Given the description of an element on the screen output the (x, y) to click on. 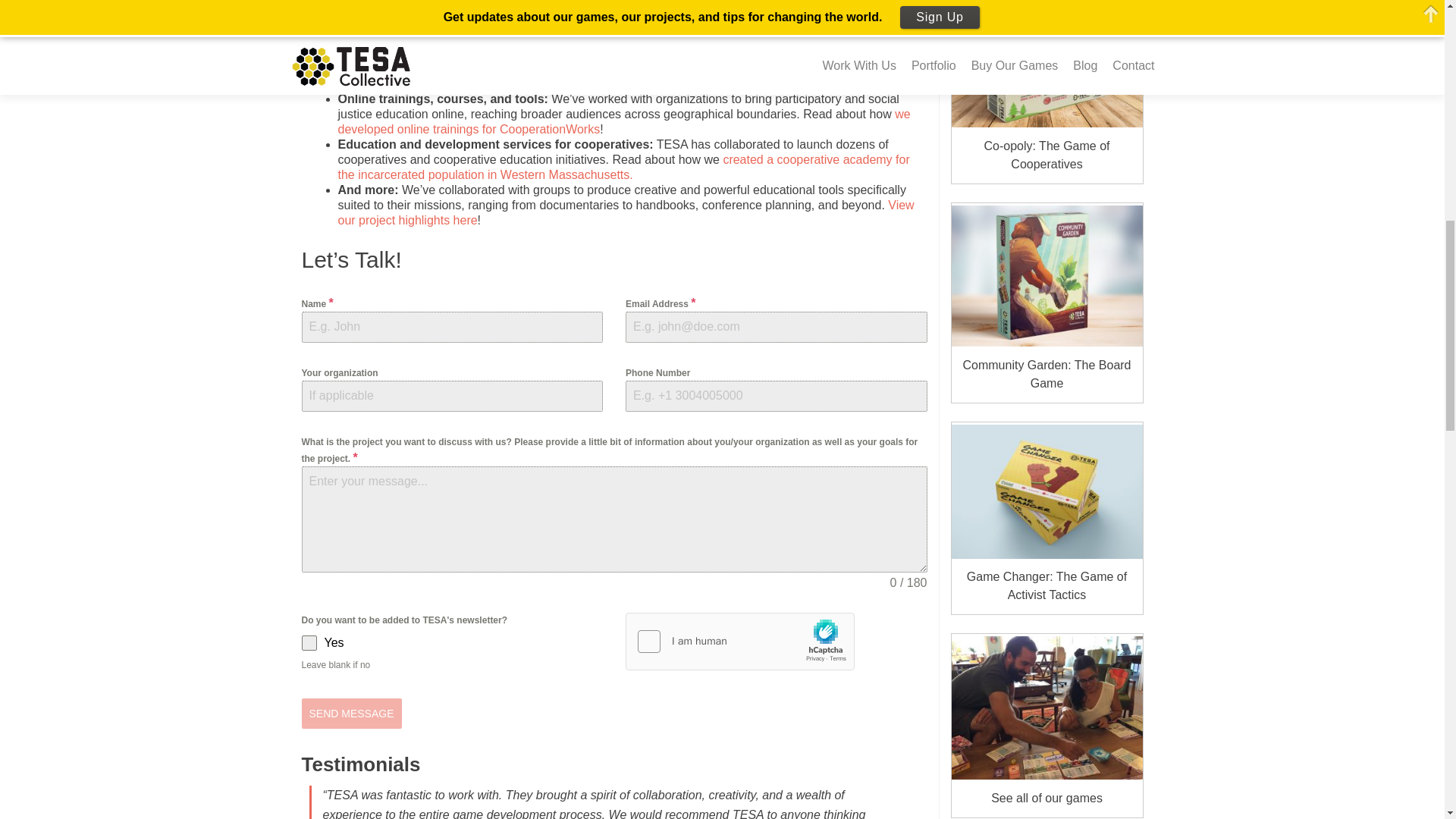
Yes (452, 642)
Widget containing checkbox for hCaptcha security challenge (741, 641)
we developed online trainings for CooperationWorks (624, 121)
SEND MESSAGE (351, 713)
developed workshops for the International Rescue Committee (630, 76)
SCO Family of Services (439, 38)
View our project highlights here (625, 212)
